Given the description of an element on the screen output the (x, y) to click on. 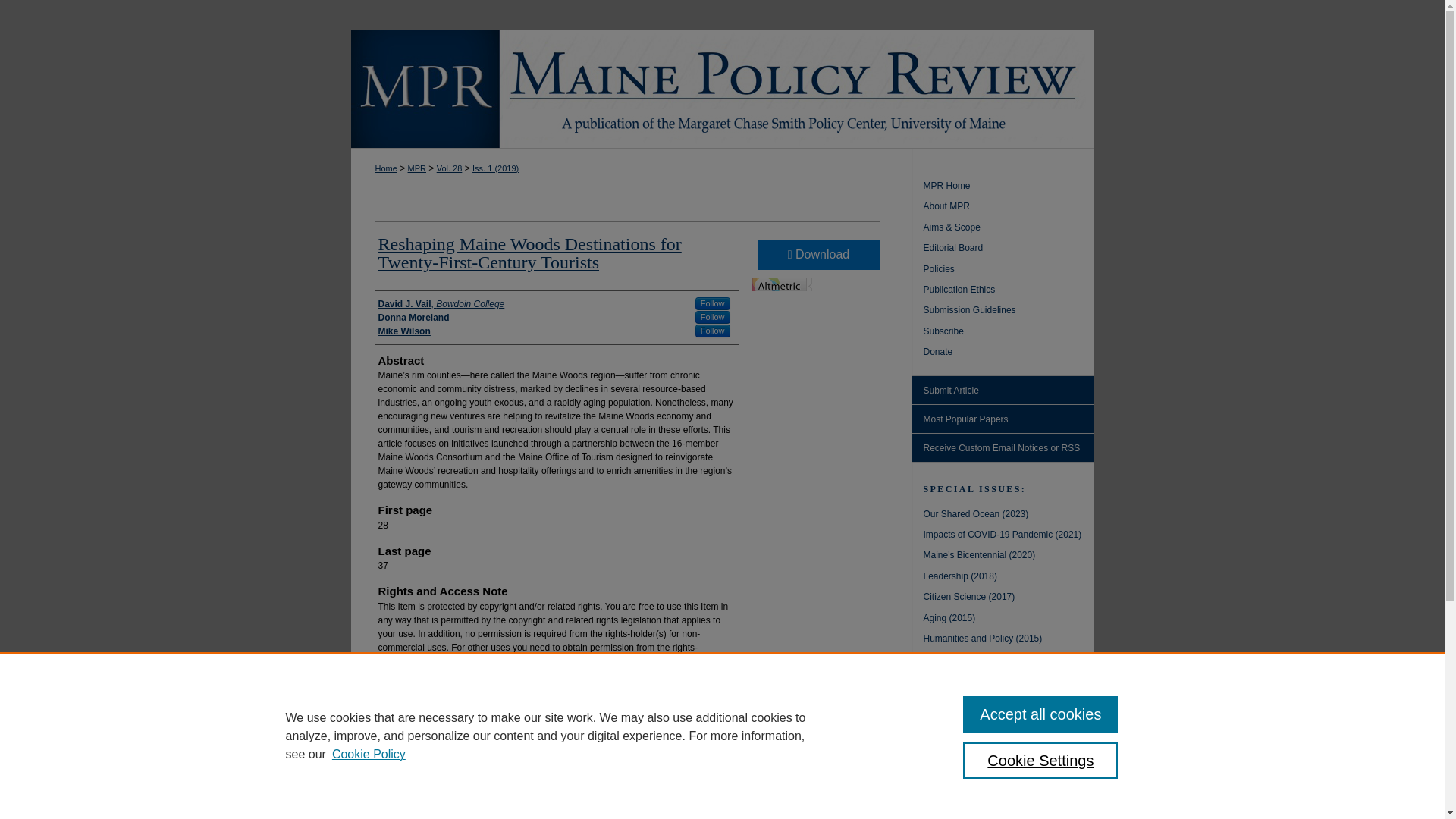
Subscribe (1008, 332)
Vol. 28 (449, 167)
Follow (712, 330)
Download (818, 254)
Maine Policy Review (1008, 187)
Mike Wilson (403, 331)
Donate (1008, 353)
Subscribe (1008, 332)
Follow (712, 317)
Search (1054, 807)
Receive notifications of new content (1002, 448)
Most Recent Special Issue (1008, 515)
Policies (1008, 270)
Publication Ethics (1008, 291)
Follow Donna Moreland (712, 317)
